Given the description of an element on the screen output the (x, y) to click on. 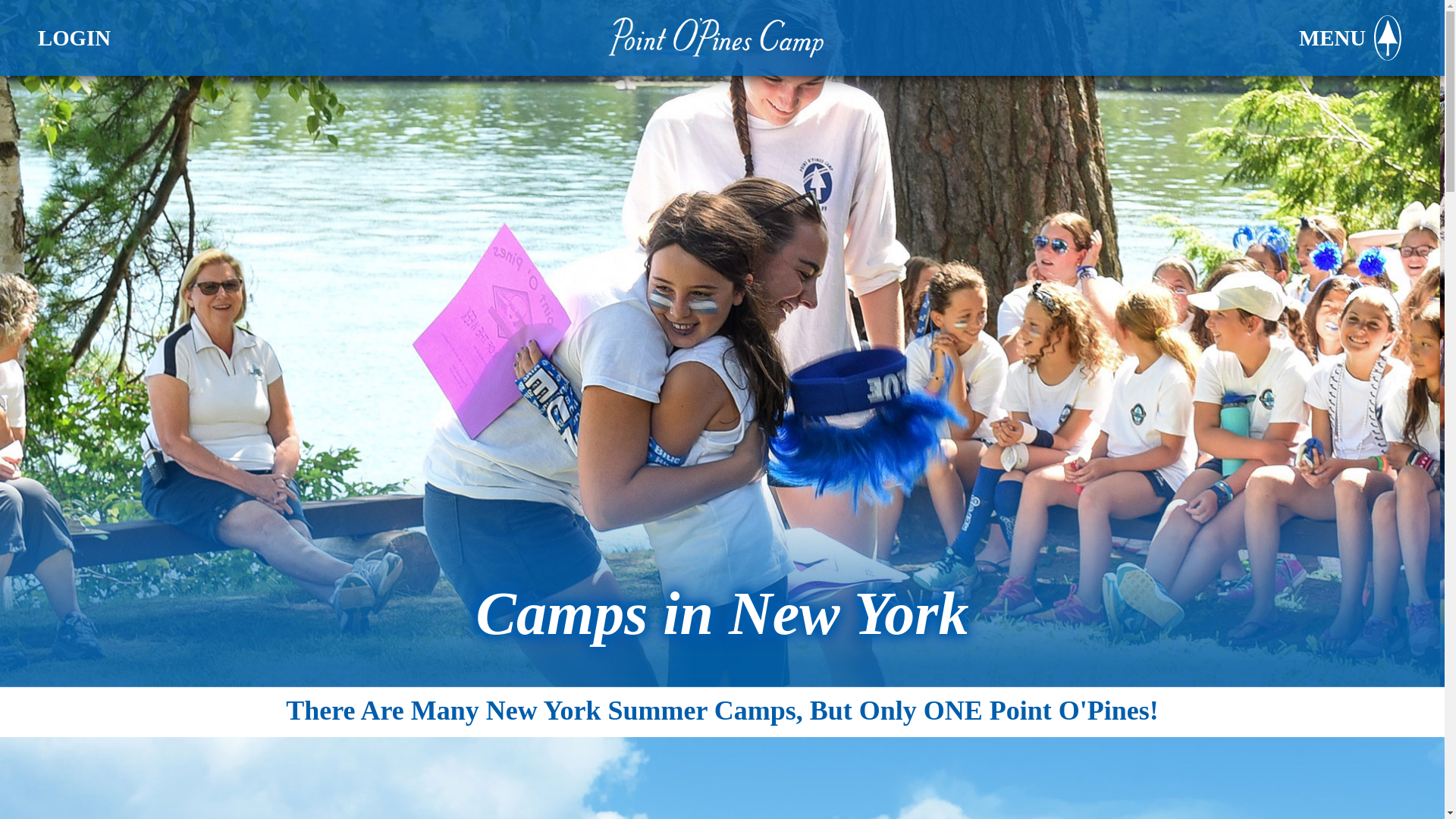
LOGIN (73, 38)
Back to homepage (721, 37)
Log in to summer camp account (73, 38)
MENU (1352, 38)
